Given the description of an element on the screen output the (x, y) to click on. 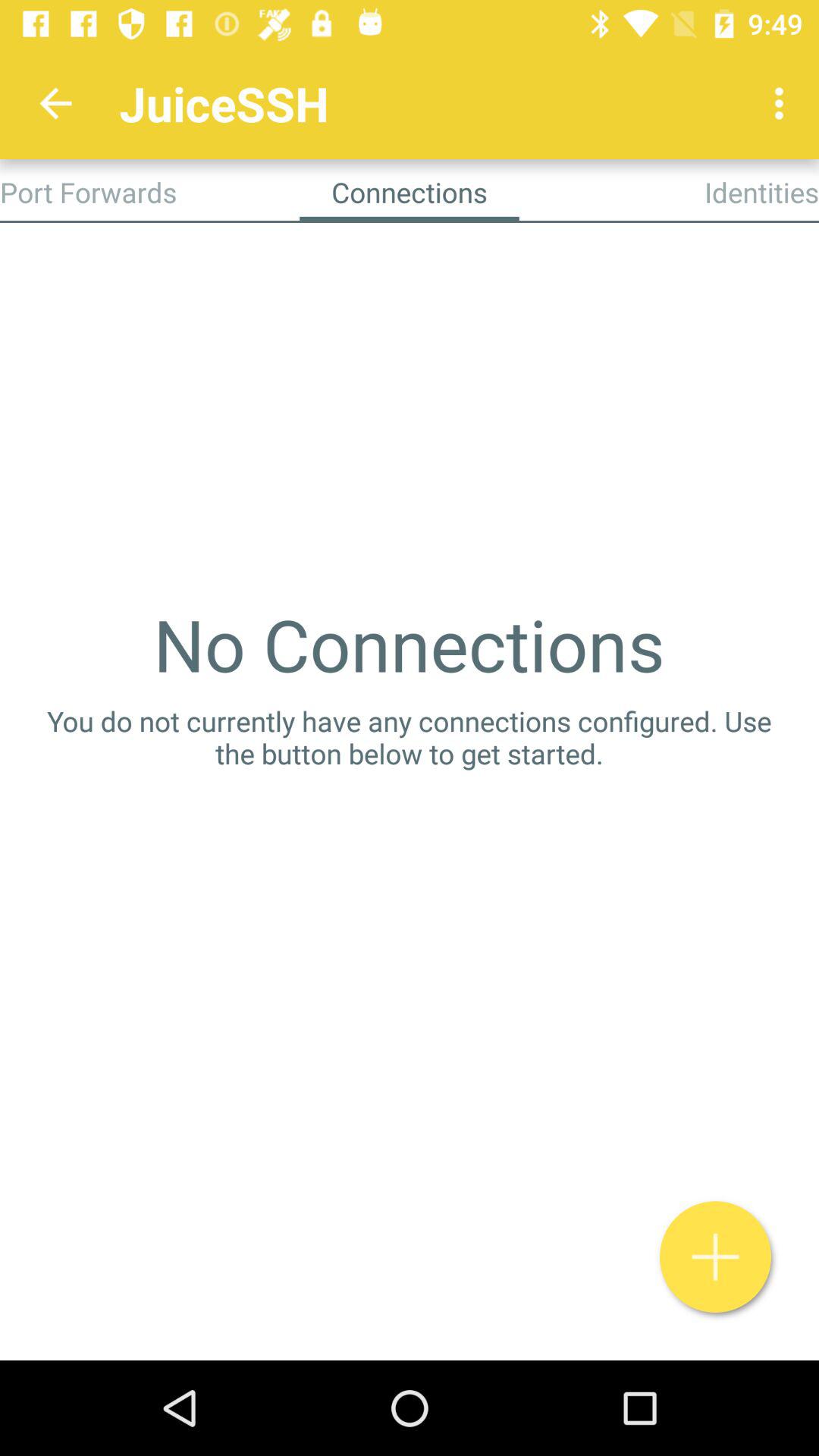
press the icon to the left of the connections (88, 192)
